Given the description of an element on the screen output the (x, y) to click on. 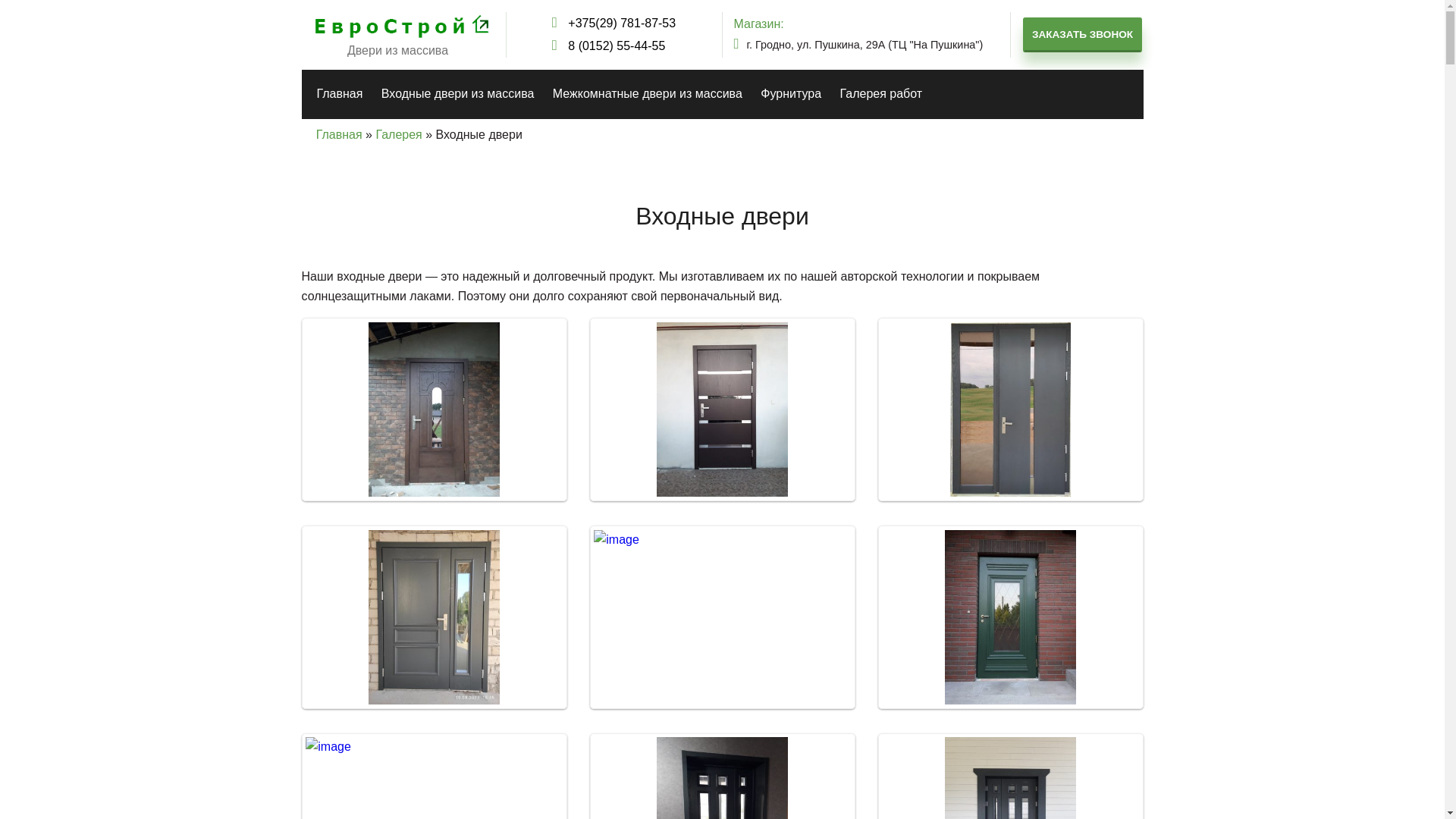
+375(29) 781-87-53 Element type: text (613, 23)
8 (0152) 55-44-55 Element type: text (613, 45)
